Given the description of an element on the screen output the (x, y) to click on. 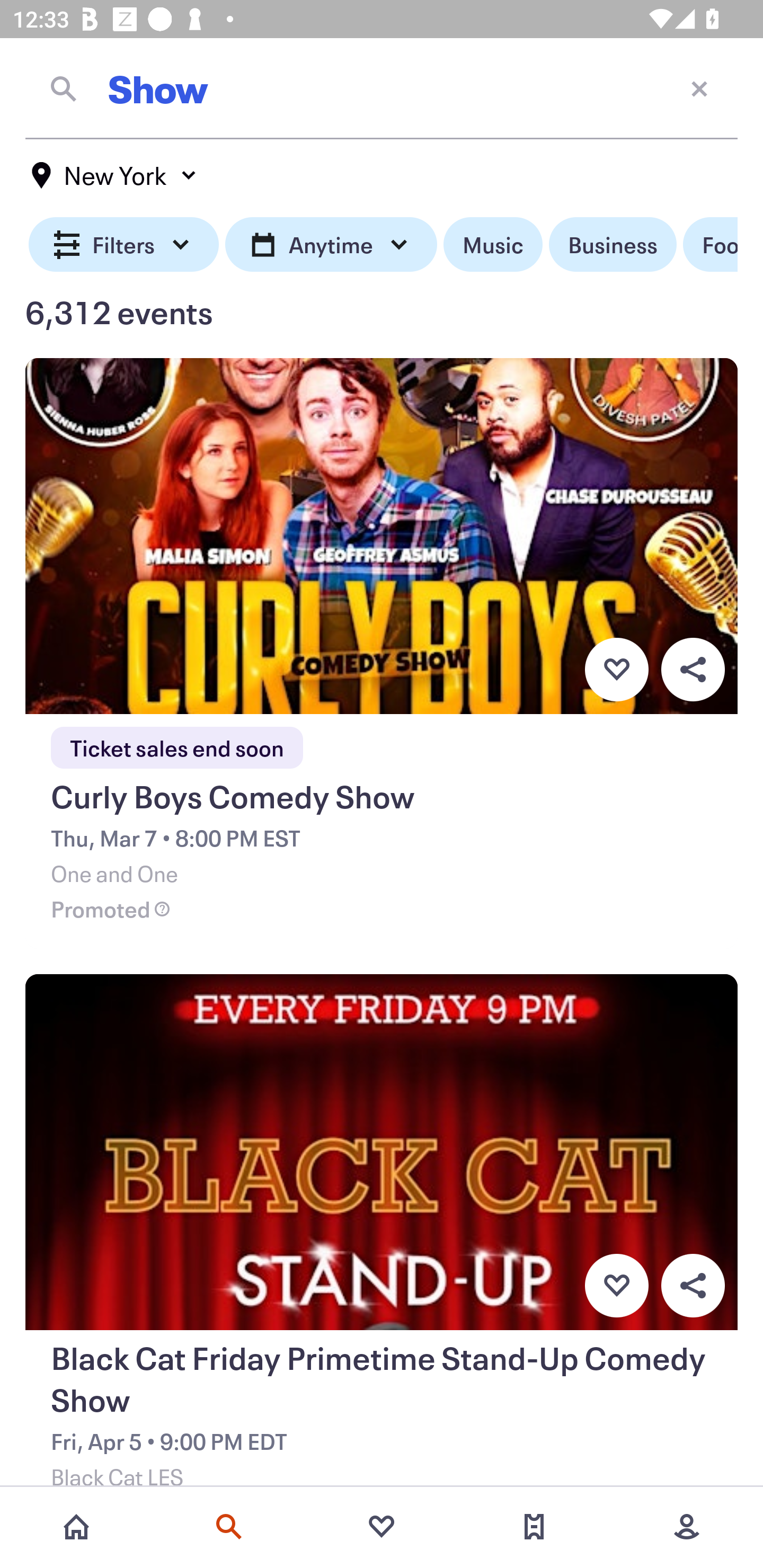
Show Close current screen (381, 88)
Close current screen (699, 88)
New York (114, 175)
Filters (123, 244)
Anytime (331, 244)
Music (492, 244)
Business (612, 244)
Favorite button (616, 669)
Overflow menu button (692, 669)
Favorite button (616, 1285)
Overflow menu button (692, 1285)
Home (76, 1526)
Search events (228, 1526)
Favorites (381, 1526)
Tickets (533, 1526)
More (686, 1526)
